Given the description of an element on the screen output the (x, y) to click on. 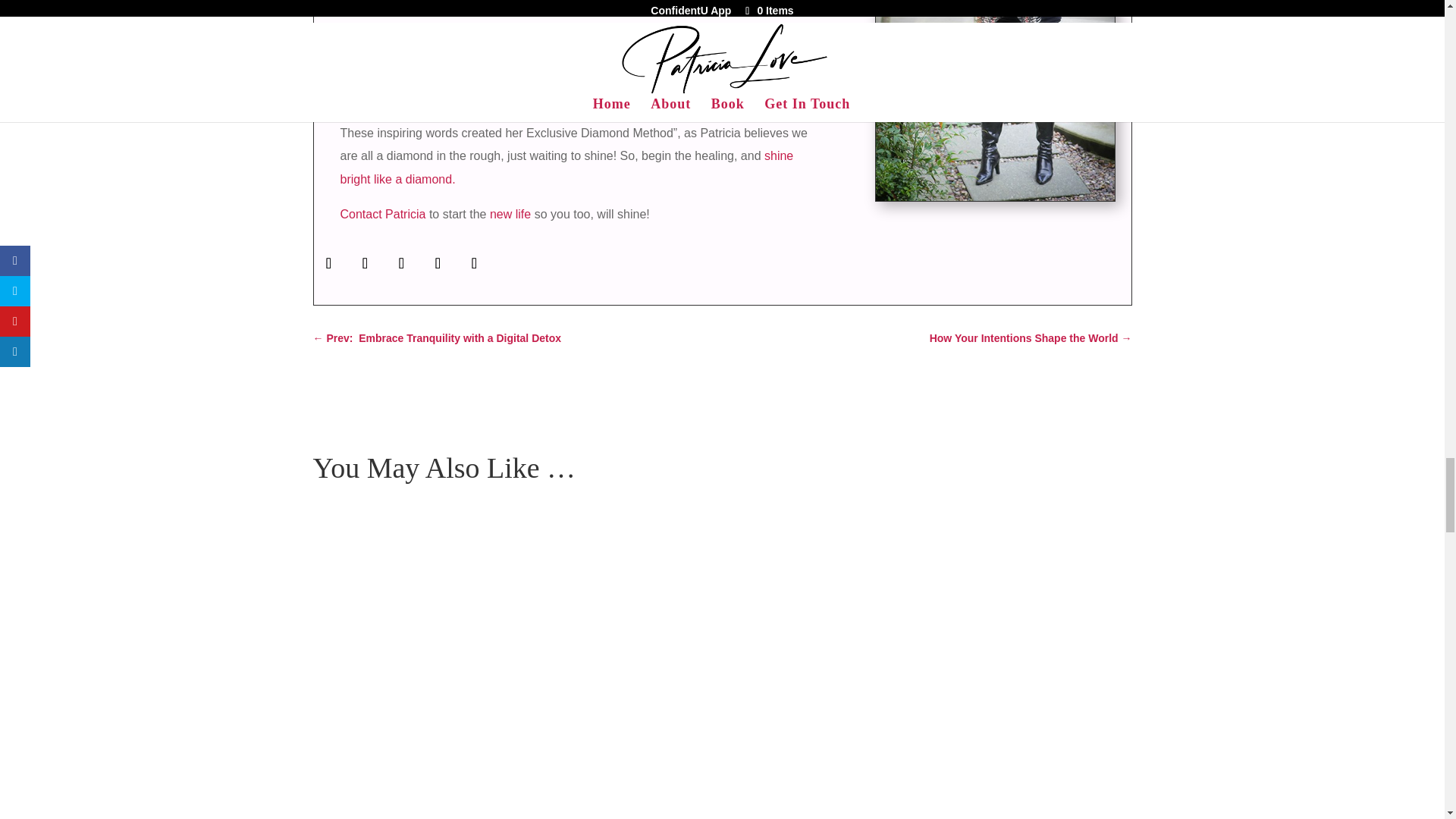
Follow on Facebook (328, 263)
Contact Patricia (382, 214)
How to listen for your power within (995, 100)
Follow on X (365, 263)
shine bright like a diamond. (566, 167)
Follow on LinkedIn (474, 263)
Follow on Instagram (401, 263)
Follow on Pinterest (437, 263)
new life (510, 214)
